Given the description of an element on the screen output the (x, y) to click on. 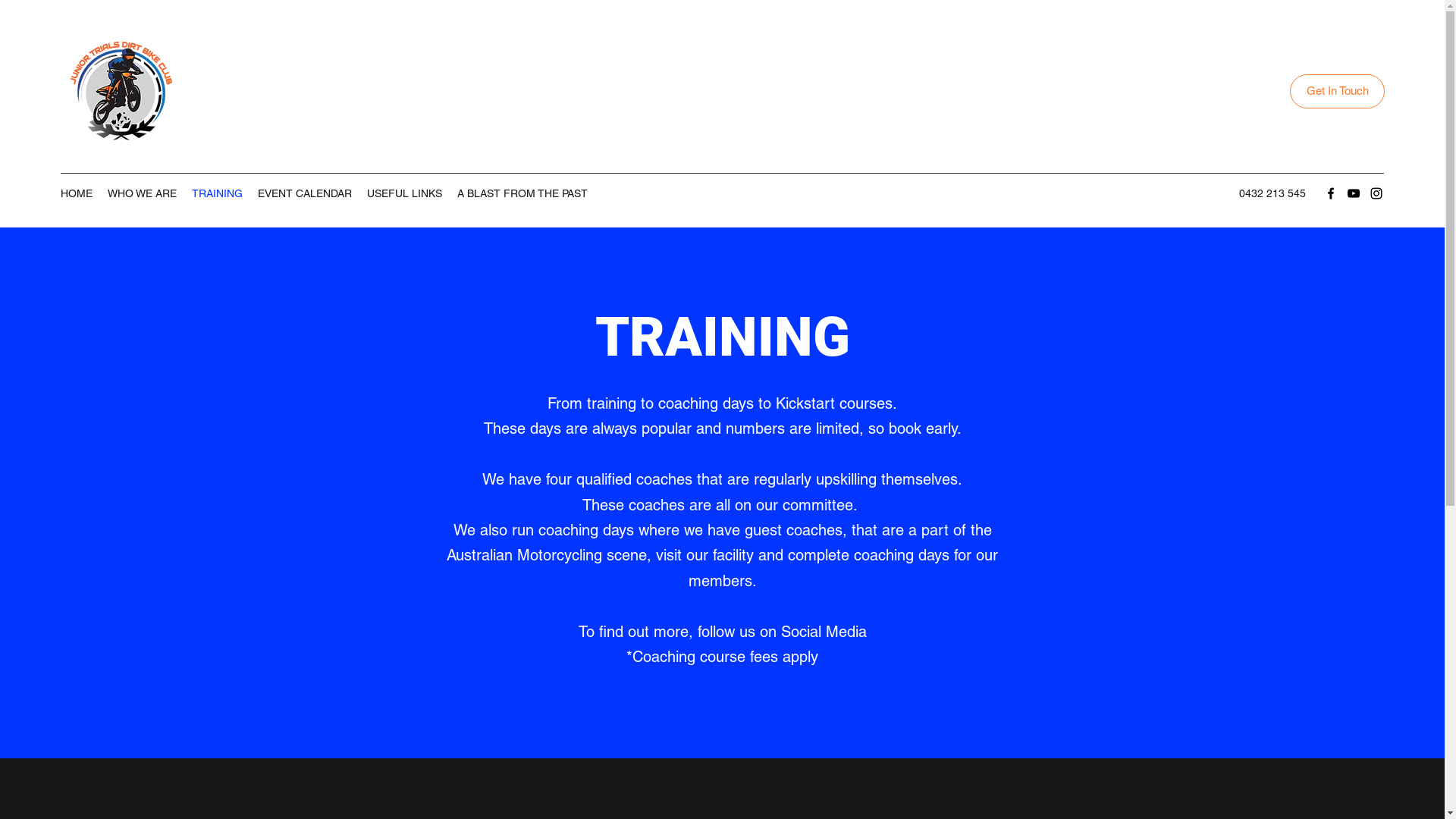
TRAINING Element type: text (217, 193)
WHO WE ARE Element type: text (142, 193)
USEFUL LINKS Element type: text (404, 193)
EVENT CALENDAR Element type: text (304, 193)
A BLAST FROM THE PAST Element type: text (522, 193)
Get In Touch Element type: text (1336, 91)
HOME Element type: text (76, 193)
